Given the description of an element on the screen output the (x, y) to click on. 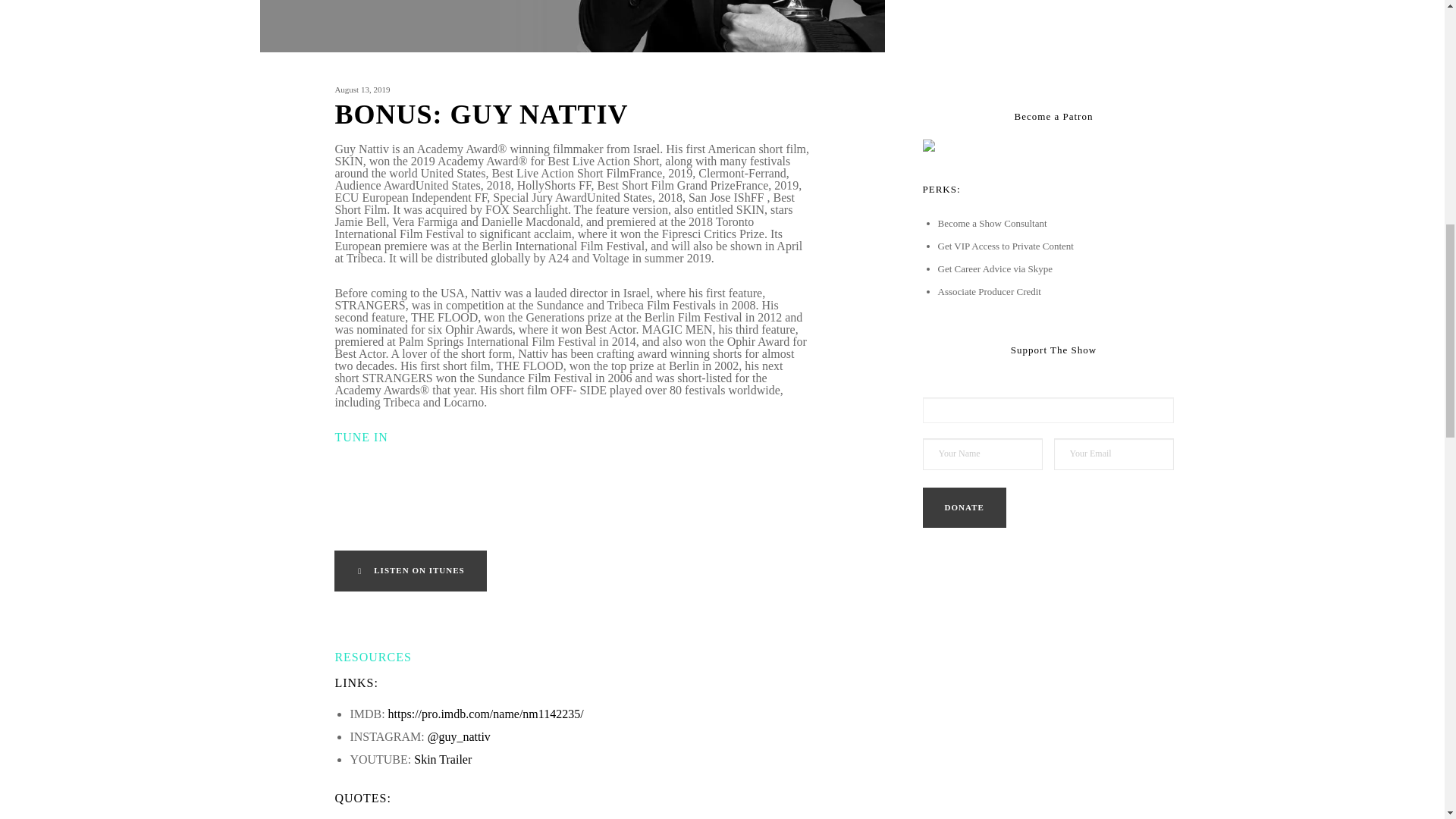
Skin Trailer (442, 758)
DONATE (963, 507)
LISTEN ON ITUNES (410, 570)
BONUS: GUY NATTIV (571, 122)
